Given the description of an element on the screen output the (x, y) to click on. 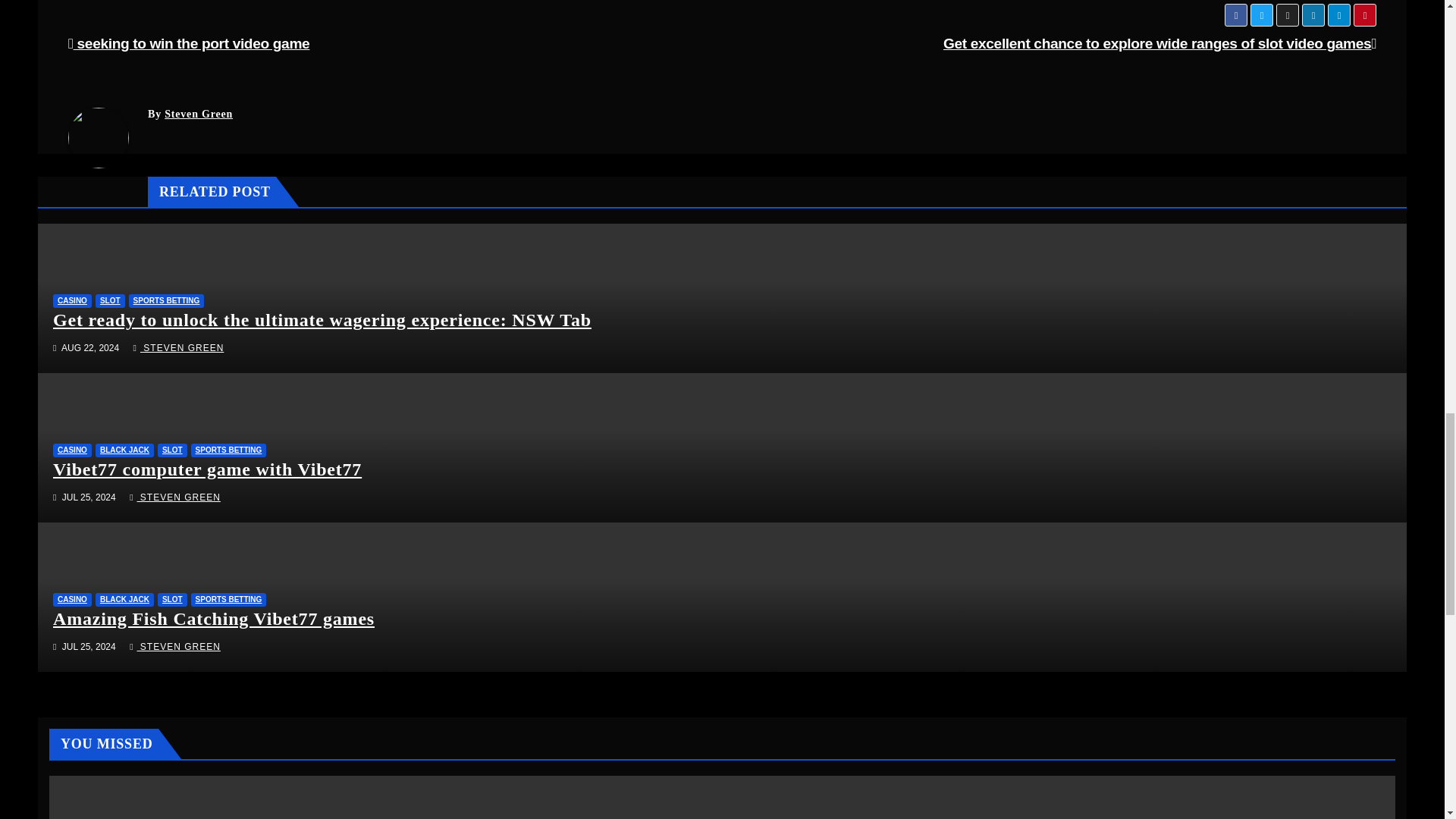
Permalink to: Amazing Fish Catching Vibet77 games (213, 618)
SPORTS BETTING (167, 300)
Steven Green (198, 113)
Permalink to: Vibet77 computer game with Vibet77 (206, 469)
SLOT (110, 300)
CASINO (71, 300)
STEVEN GREEN (178, 347)
